Given the description of an element on the screen output the (x, y) to click on. 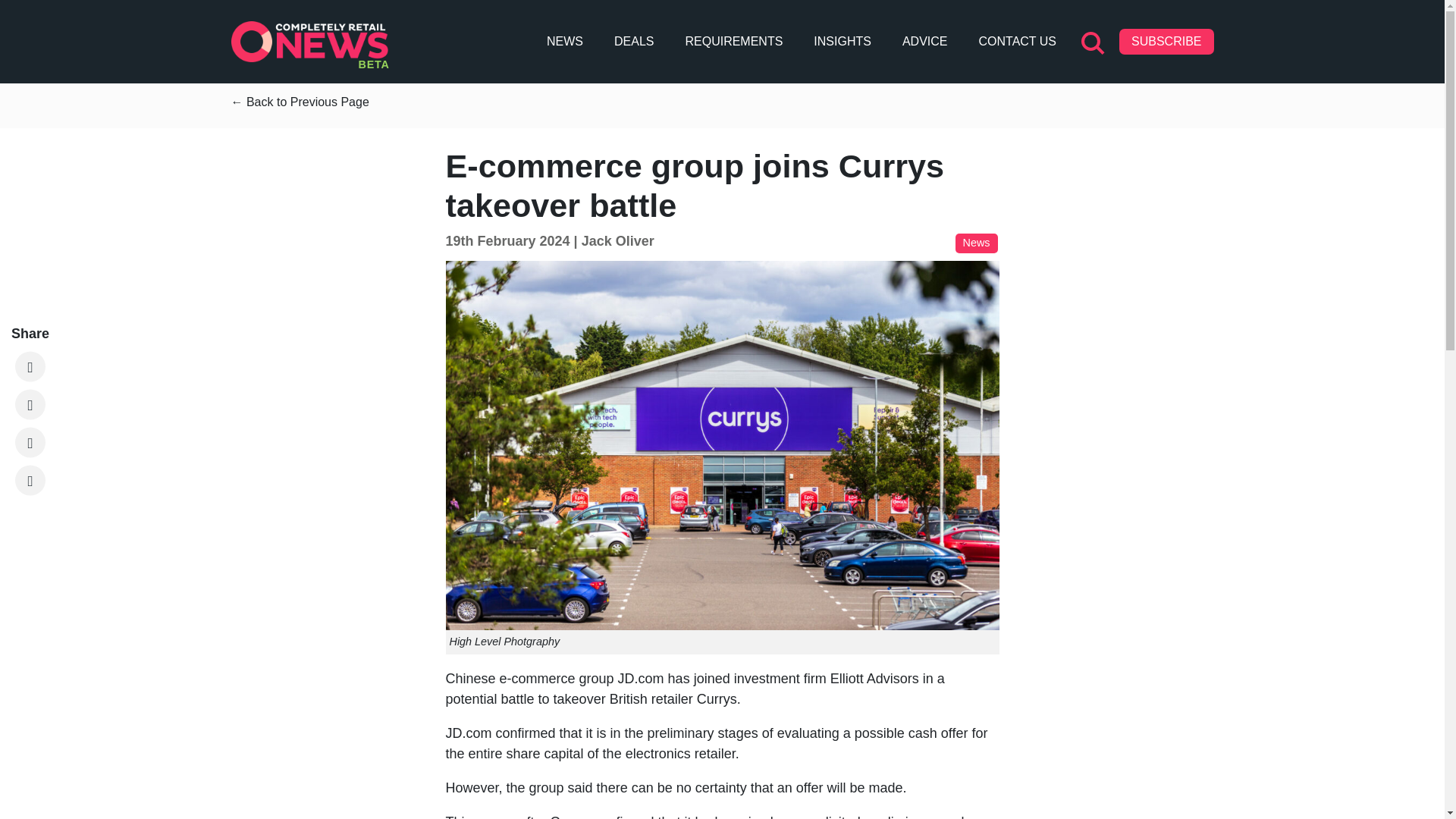
INSIGHTS (842, 41)
CONTACT US (1017, 41)
SUBSCRIBE (1165, 41)
DEALS (633, 41)
REQUIREMENTS (733, 41)
NEWS (564, 41)
ADVICE (924, 41)
News (976, 243)
